Given the description of an element on the screen output the (x, y) to click on. 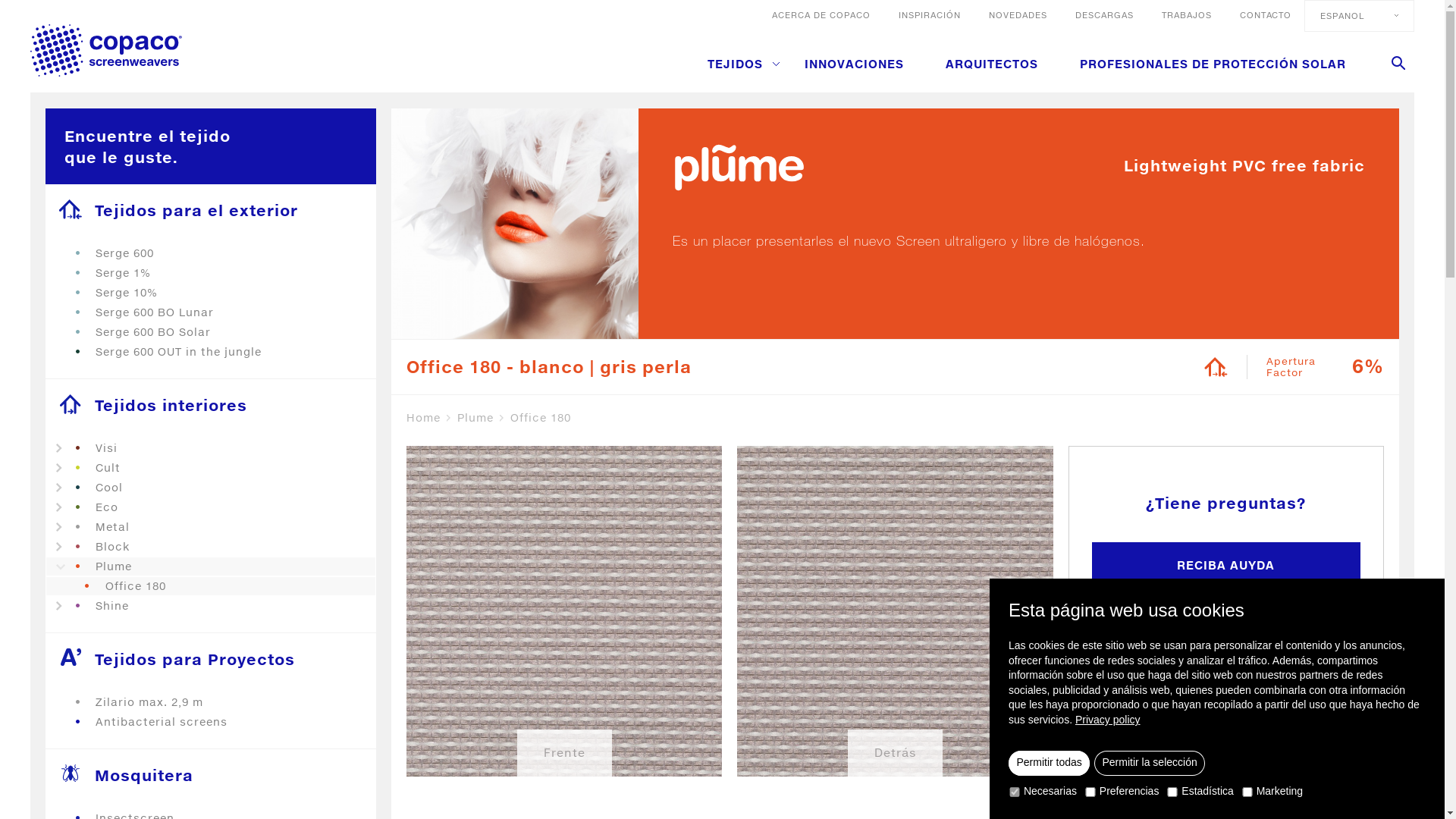
Tejidos para el exterior Element type: text (210, 209)
INNOVACIONES Element type: text (853, 63)
Home Element type: text (429, 417)
PIDA UNA MUESTRA Element type: text (1226, 627)
Office 180 Element type: text (540, 417)
Condiciones generales Element type: text (504, 757)
  Element type: text (1398, 62)
TRABAJOS Element type: text (1186, 14)
Plume Element type: text (481, 417)
ARQUITECTOS Element type: text (991, 63)
NOVEDADES Element type: text (1017, 14)
Privacy Policy Element type: text (712, 657)
  Element type: text (1051, 638)
RECIBA AUYDA Element type: text (1226, 565)
FOLLETO Element type: text (1226, 688)
Office 180 - blanco | gris perla Element type: text (548, 366)
Tejidos interiores Element type: text (210, 404)
Mosquitera Element type: text (210, 774)
Privacy policy Element type: text (1107, 719)
TEJIDOS
  Element type: text (743, 63)
Tejidos para Proyectos Element type: text (210, 658)
  Element type: text (106, 50)
  Element type: text (1082, 638)
  Element type: text (1021, 638)
T +32 (0)56 35 35 33 Element type: text (288, 641)
DESCARGAS Element type: text (1104, 14)
made by skinn Element type: text (1178, 757)
Privacy & Cookie Policy Element type: text (625, 757)
CONTACTO Element type: text (1265, 14)
Permitir todas Element type: text (1048, 763)
ACERCA DE COPACO Element type: text (820, 14)
